Given the description of an element on the screen output the (x, y) to click on. 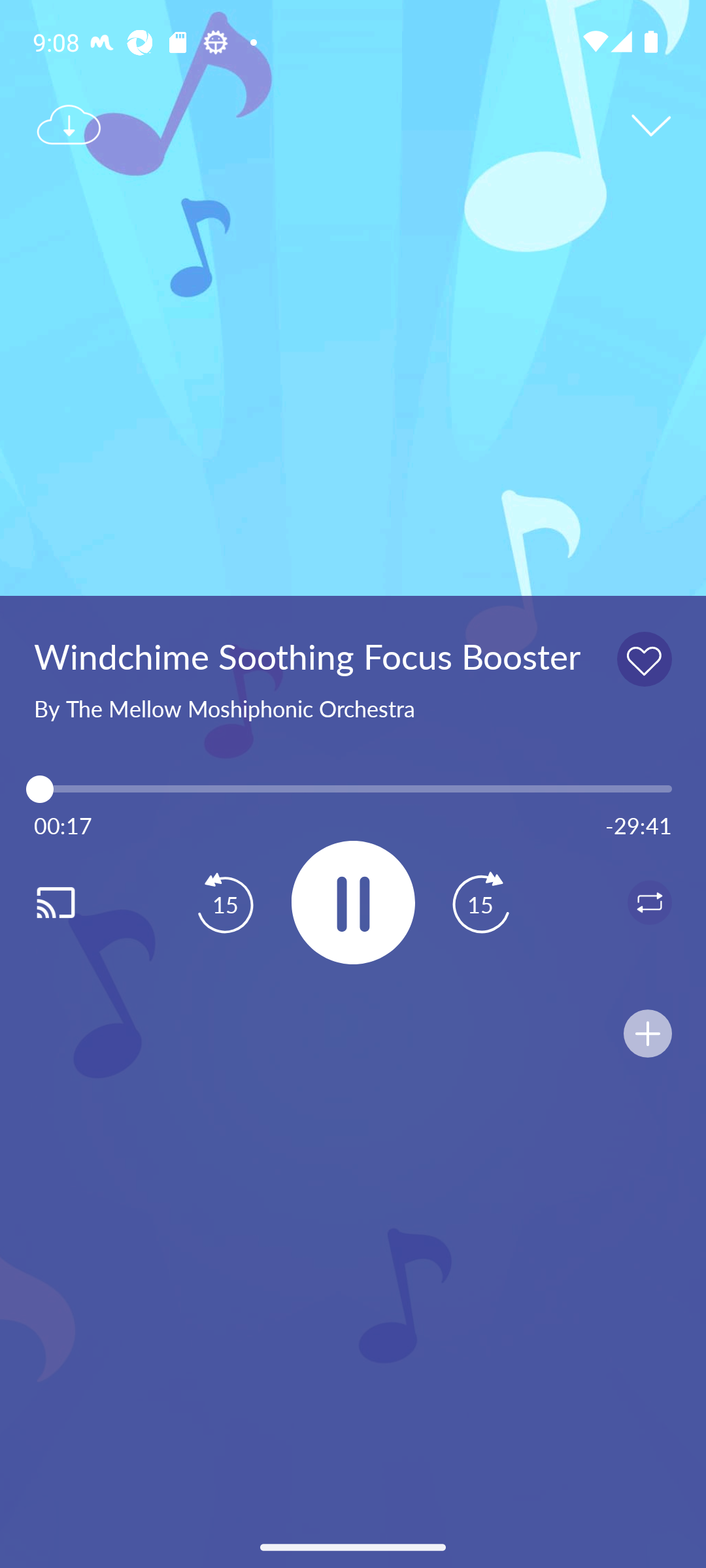
17.0 (352, 789)
Cast. Disconnected (76, 902)
